Given the description of an element on the screen output the (x, y) to click on. 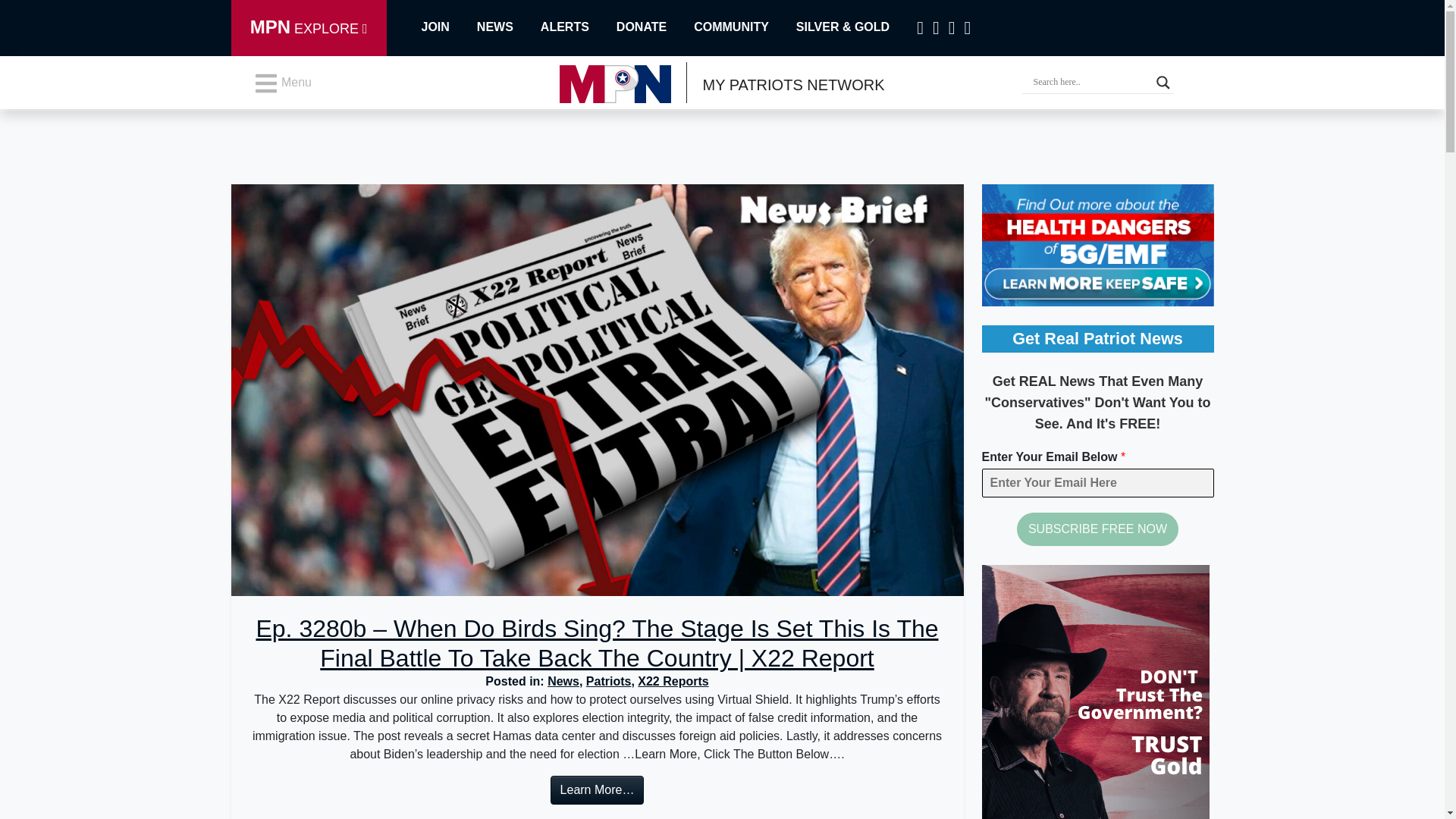
Menu (281, 83)
ALERTS (577, 26)
JOIN (439, 26)
DONATE (654, 26)
ALERTS (577, 26)
NEWS (508, 26)
NEWS (508, 26)
COMMUNITY (745, 26)
COMMUNITY (745, 26)
JOIN (439, 26)
DONATE (654, 26)
MPN EXPLORE (307, 28)
